Given the description of an element on the screen output the (x, y) to click on. 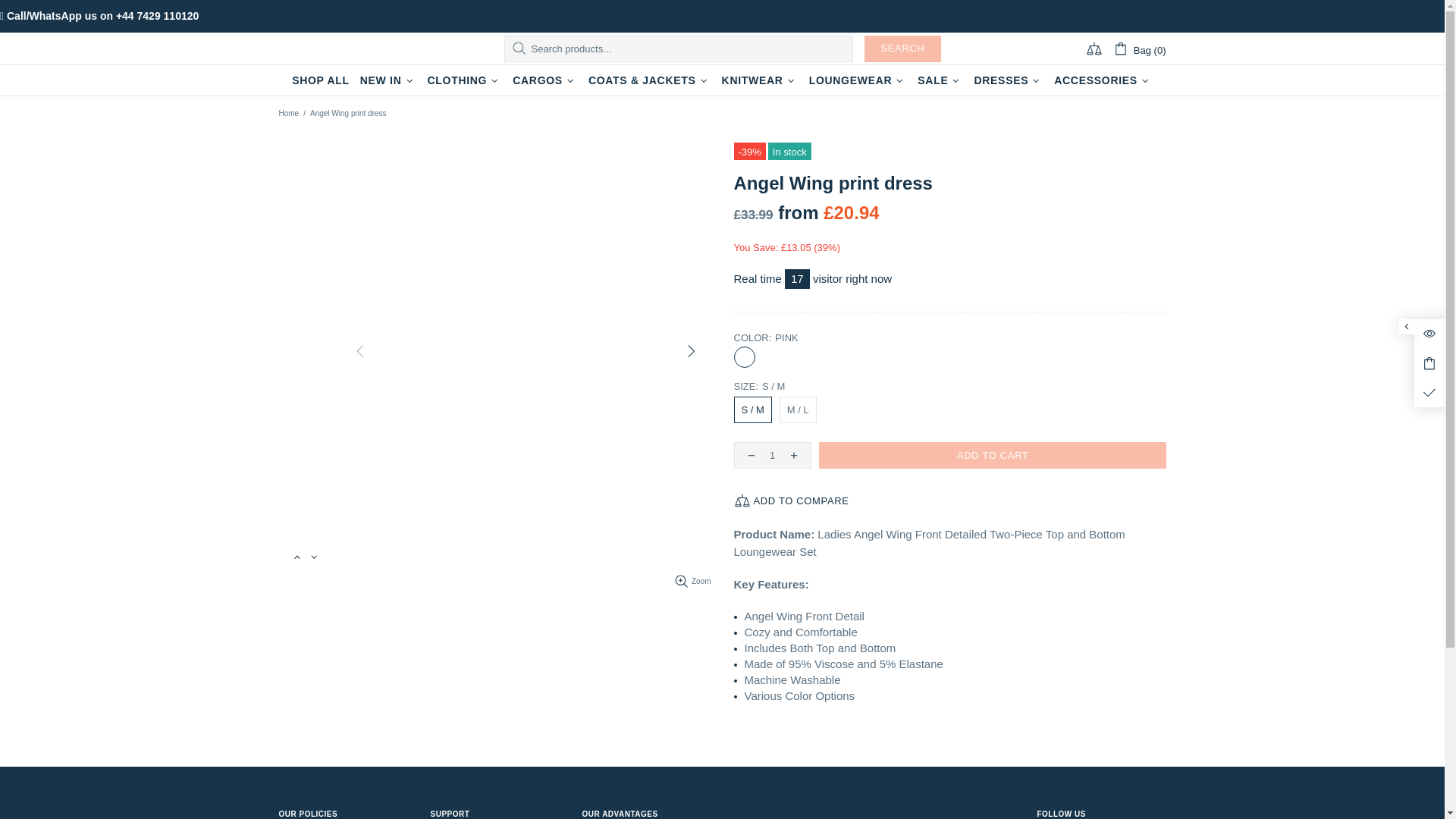
1 (771, 455)
NEW IN (388, 80)
SHOP ALL (320, 80)
CLOTHING (464, 80)
Zuhoo (349, 48)
SEARCH (902, 49)
